Given the description of an element on the screen output the (x, y) to click on. 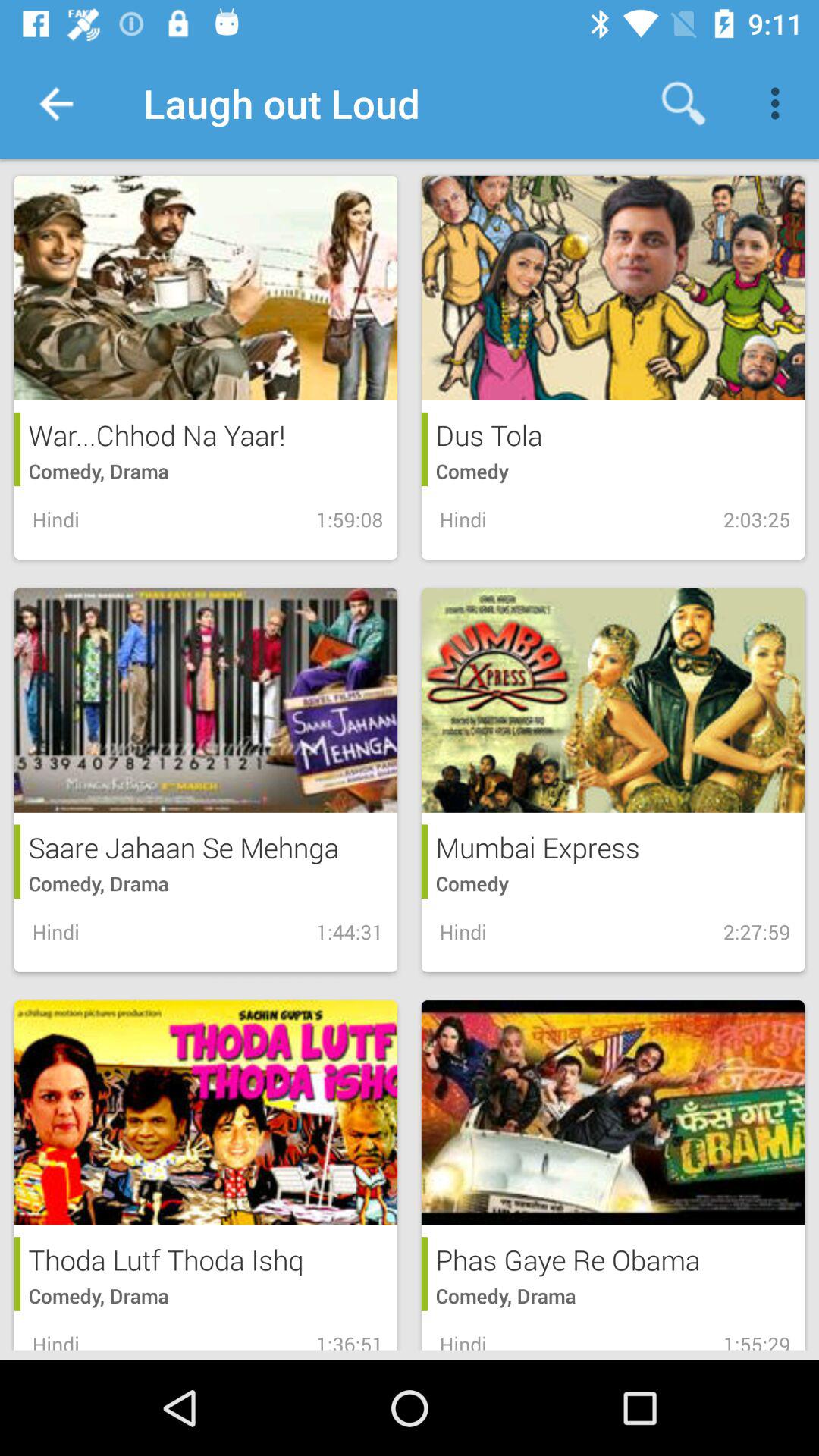
turn on the icon to the right of the laugh out loud  app (683, 103)
